Given the description of an element on the screen output the (x, y) to click on. 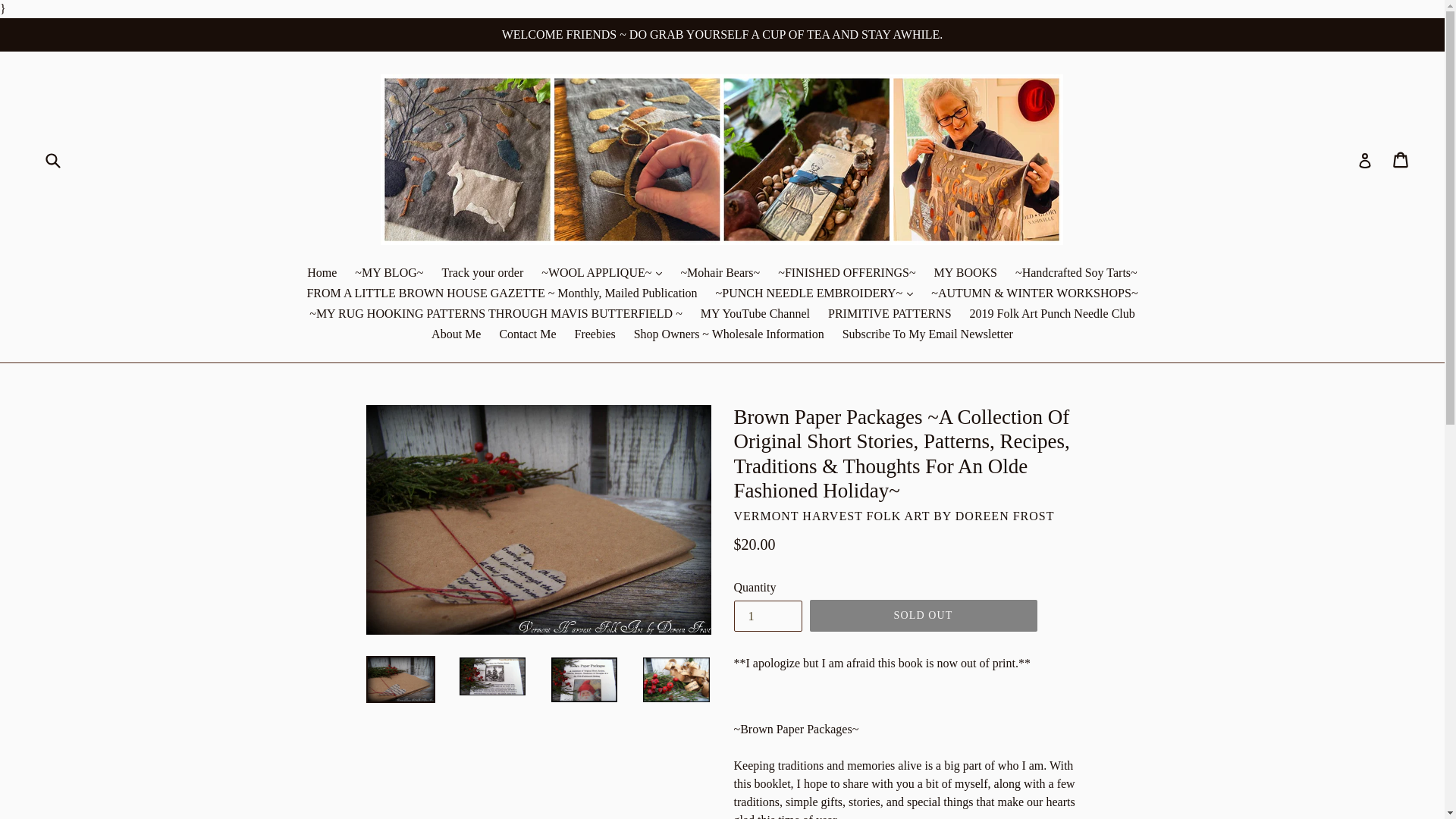
1 (767, 615)
